Given the description of an element on the screen output the (x, y) to click on. 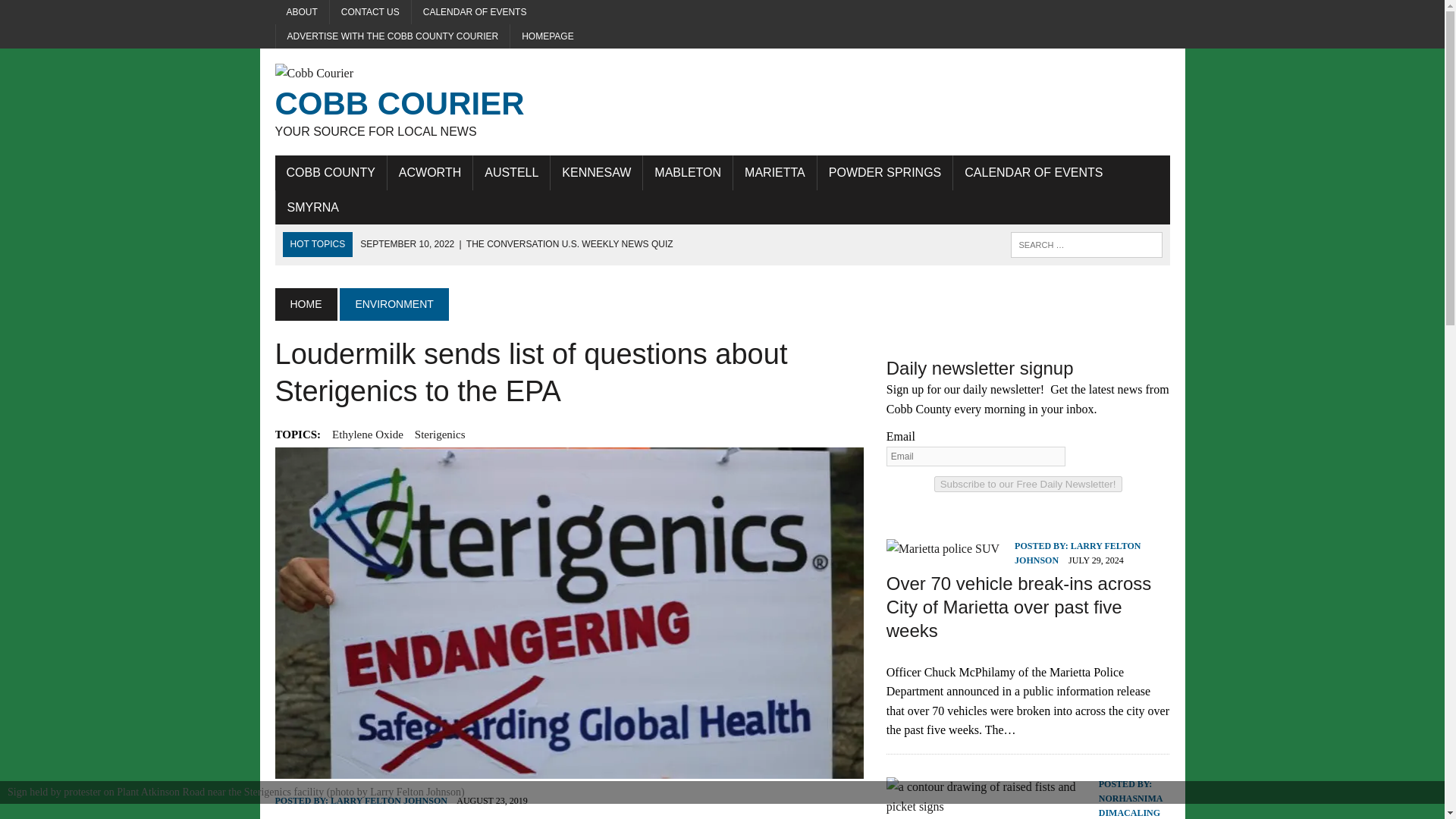
ENVIRONMENT (393, 304)
CALENDAR OF EVENTS (1033, 172)
POWDER SPRINGS (416, 101)
ADVERTISE WITH THE COBB COUNTY COURIER (884, 172)
AUSTELL (393, 36)
MARIETTA (511, 172)
LARRY FELTON JOHNSON (774, 172)
Ethylene Oxide (388, 800)
HOMEPAGE (367, 434)
COBB COUNTY (548, 36)
MABLETON (330, 172)
Cobb  Courier (687, 172)
CONTACT US (416, 101)
